Given the description of an element on the screen output the (x, y) to click on. 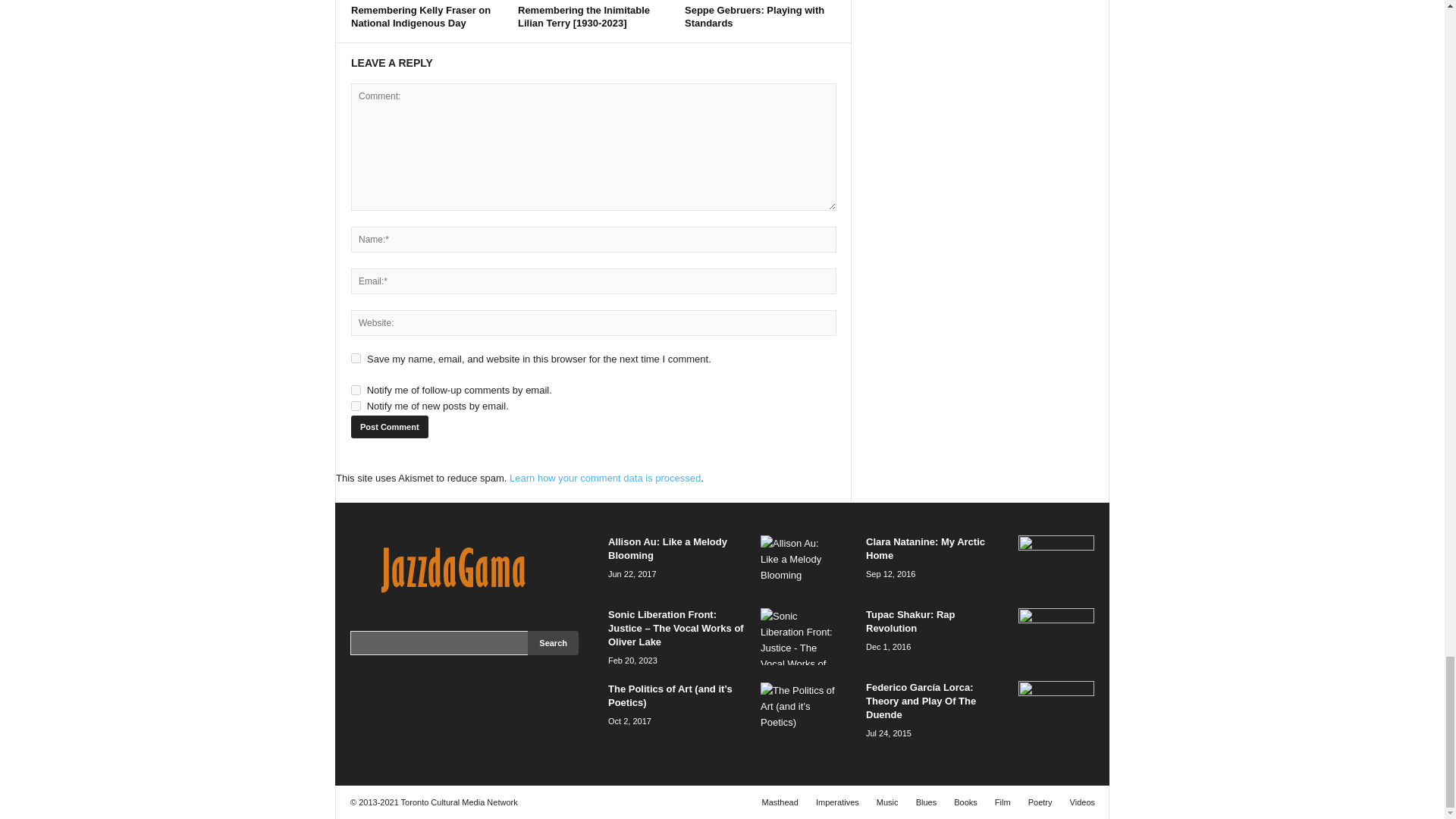
Post Comment (389, 426)
yes (355, 357)
subscribe (355, 406)
Search (552, 642)
subscribe (355, 389)
